Given the description of an element on the screen output the (x, y) to click on. 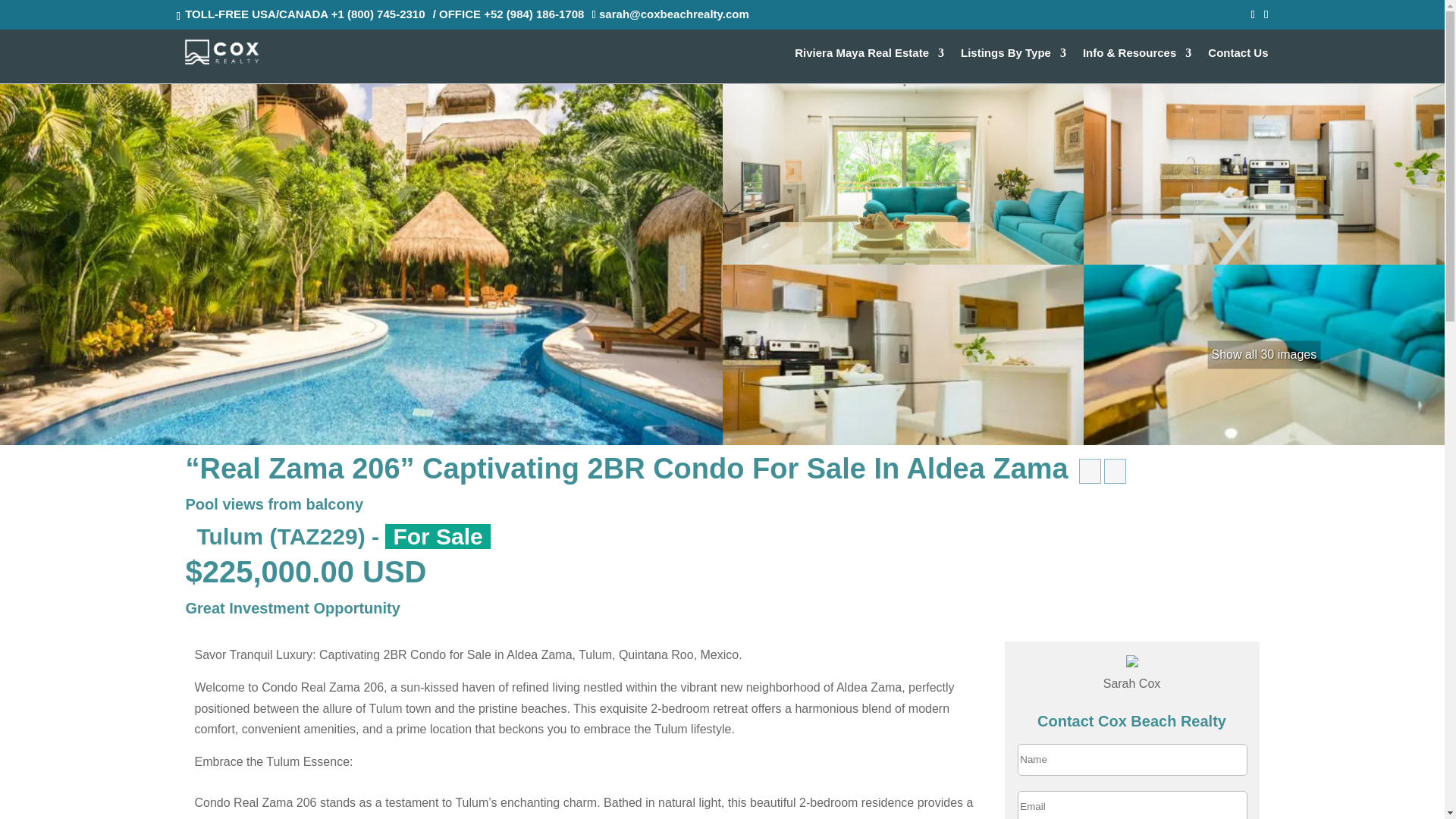
Listings By Type (1012, 65)
Riviera Maya Real Estate (868, 65)
Contact Us (1238, 65)
